Given the description of an element on the screen output the (x, y) to click on. 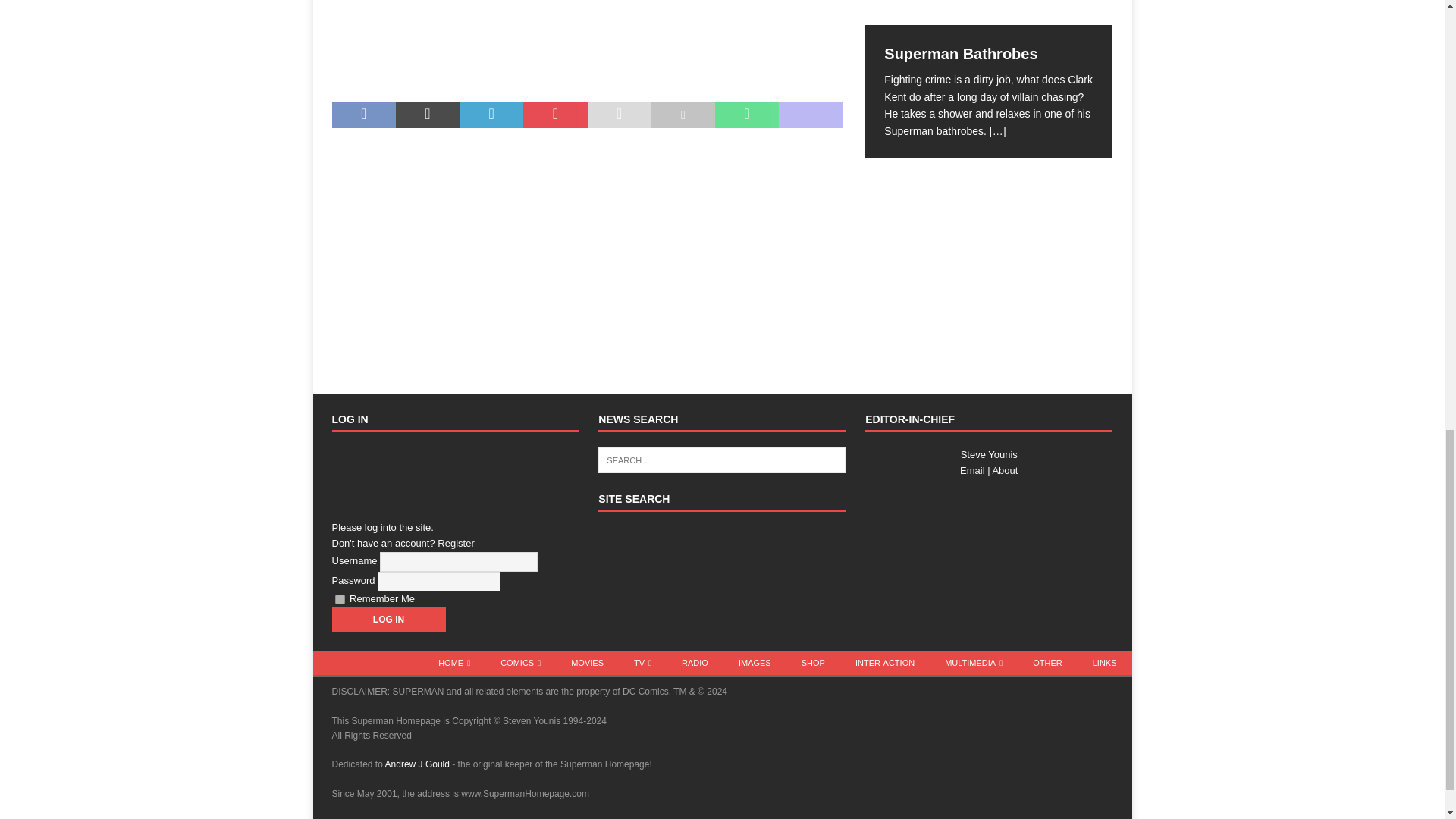
Pin This Post (554, 114)
Share on Whatsapp (746, 114)
Tweet This Post (428, 114)
Share on Facebook (363, 114)
Send this article to a friend (619, 114)
Superman Bathrobes (959, 53)
Superman Bathrobes (988, 12)
Share on LinkedIn (491, 114)
Share On Mastodon (810, 114)
forever (339, 599)
